Given the description of an element on the screen output the (x, y) to click on. 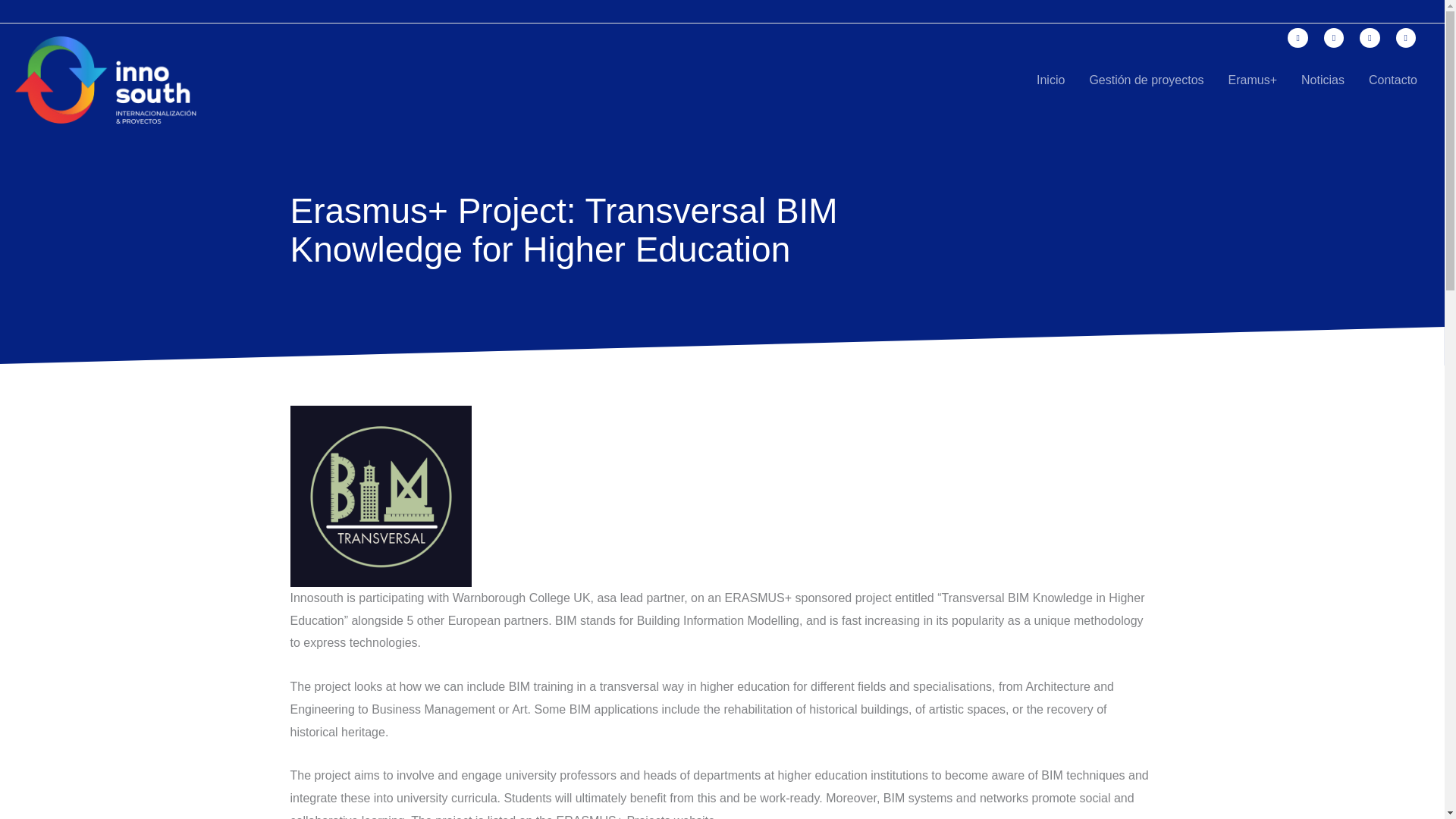
Facebook-f (1297, 37)
Youtube (1368, 37)
Twitter (1333, 37)
Linkedin (1405, 37)
